Given the description of an element on the screen output the (x, y) to click on. 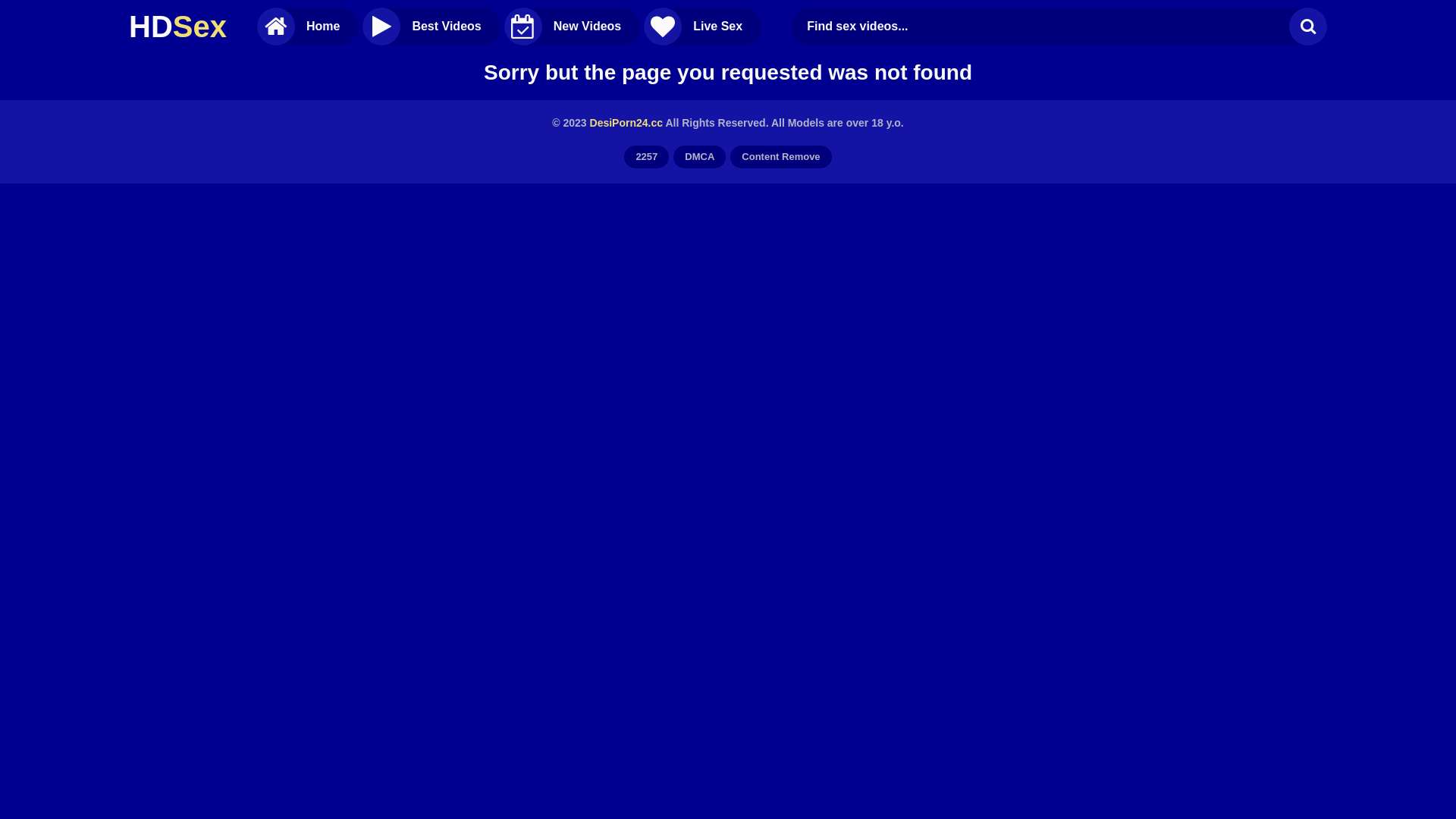
Best Videos Element type: text (430, 26)
Use Latin letters, digits, space, - Element type: hover (1043, 26)
HDSex Element type: text (177, 26)
Home Element type: text (307, 26)
DMCA Element type: text (699, 156)
Content Remove Element type: text (780, 156)
2257 Element type: text (646, 156)
Search Element type: hover (1308, 26)
New Videos Element type: text (572, 26)
Live Sex Element type: text (702, 26)
